Given the description of an element on the screen output the (x, y) to click on. 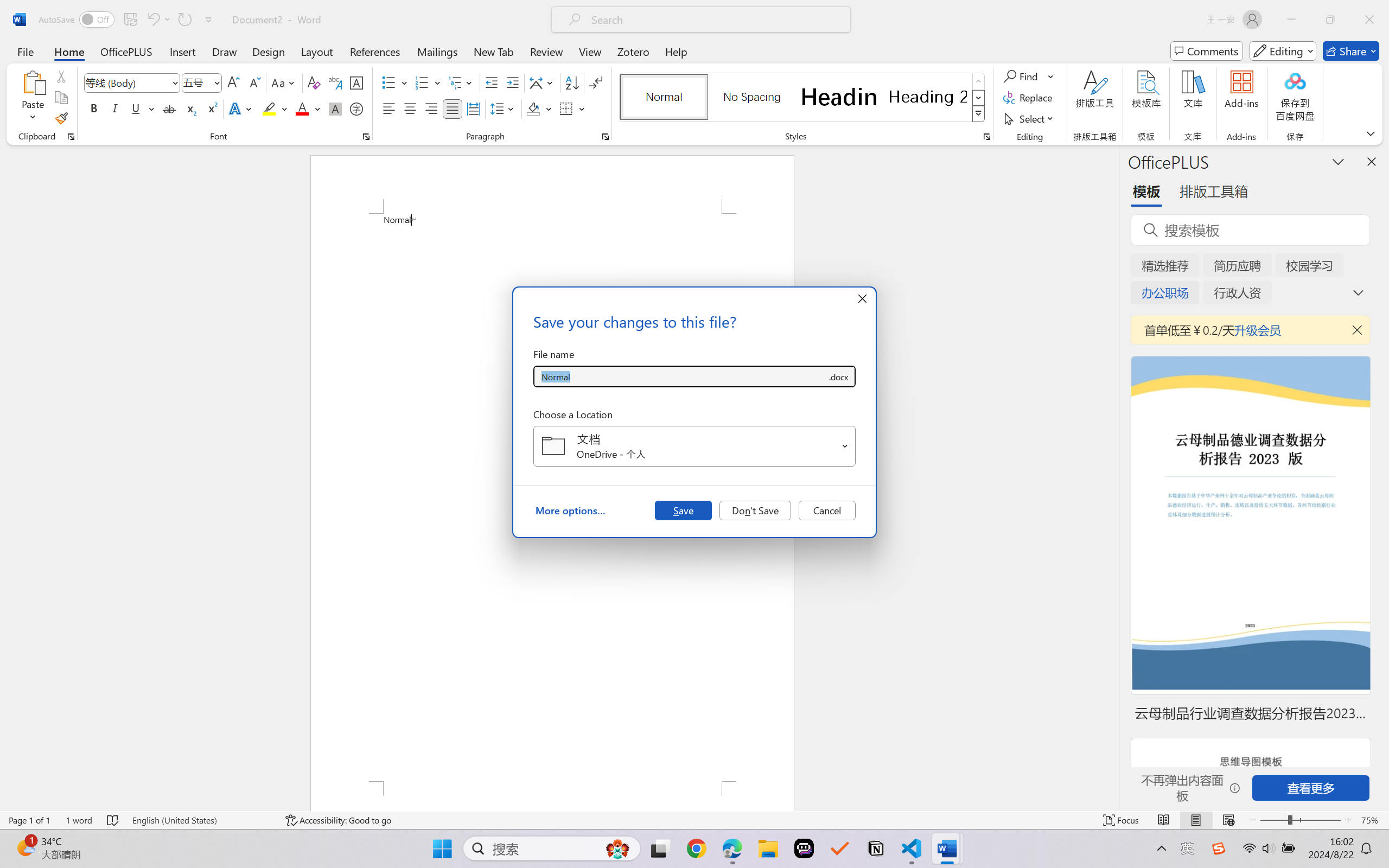
Mode (1283, 50)
Spelling and Grammar Check No Errors (113, 819)
Shading RGB(0, 0, 0) (533, 108)
Text Effects and Typography (241, 108)
Home (69, 51)
Text Highlight Color Yellow (269, 108)
Align Right (431, 108)
Close (1369, 19)
AutoSave (76, 19)
